Given the description of an element on the screen output the (x, y) to click on. 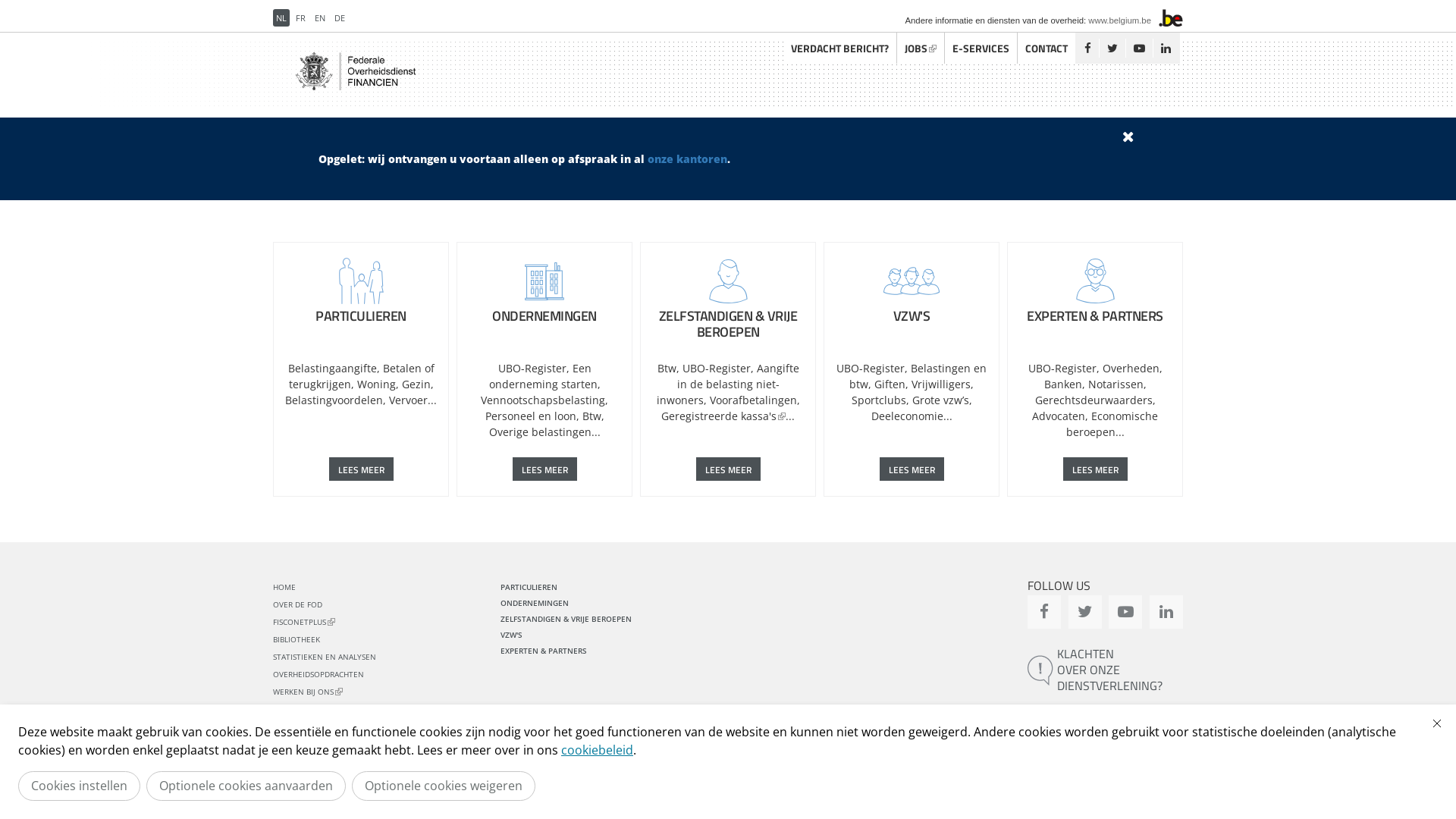
www.belgium.be Element type: text (1119, 20)
Btw Element type: text (591, 415)
DISCLAIMER Element type: text (331, 784)
Twitter Element type: text (1111, 47)
LEES MEER Element type: text (1095, 468)
Belastingaangifte Element type: text (332, 367)
CONTACT Element type: text (290, 708)
Vennootschapsbelasting Element type: text (542, 399)
PHISHING Element type: text (712, 784)
ONDERNEMINGEN Element type: text (534, 602)
BIBLIOTHEEK Element type: text (296, 638)
NL Element type: text (281, 17)
EN Element type: text (319, 17)
cookiebeleid Element type: text (597, 749)
PARTICULIEREN Element type: text (528, 586)
JOBS
(EXTERNE LINK) Element type: text (920, 47)
EXPERTEN & PARTNERS Element type: text (543, 650)
KLACHTEN
OVER ONZE DIENSTVERLENING? Element type: text (1105, 669)
UBO-Register Element type: text (531, 367)
Geregistreerde kassa's
(externe link) Element type: text (723, 415)
Vervoer Element type: text (408, 399)
Gerechtsdeurwaarders Element type: text (1092, 399)
ZELFSTANDIGEN & VRIJE BEROEPEN Element type: text (565, 618)
Banken Element type: text (1062, 383)
LINKEDIN Element type: text (1166, 611)
Belastingen en btw Element type: text (917, 375)
STATISTIEKEN EN ANALYSEN Element type: text (324, 656)
Voorafbetalingen Element type: text (753, 399)
Economische beroepen Element type: text (1112, 423)
Optionele cookies aanvaarden Element type: text (245, 785)
Cookies instellen Element type: text (79, 785)
EEN DATALEK
MELDEN Element type: text (1105, 722)
Een onderneming starten Element type: text (542, 375)
Woning Element type: text (375, 383)
VERDACHT BERICHT? Element type: text (839, 47)
PRIVACY Element type: text (384, 784)
Advocaten Element type: text (1058, 415)
TWITTER Element type: text (1084, 611)
FISCONETPLUS
(EXTERNE LINK) Element type: text (304, 621)
Linkedin Element type: text (1165, 47)
Btw Element type: text (665, 367)
LEES MEER Element type: text (361, 468)
E-SERVICES Element type: text (980, 47)
ONDERNEMINGEN Element type: text (544, 290)
ZELFSTANDIGEN & VRIJE BEROEPEN Element type: text (727, 298)
OVERHEIDSOPDRACHTEN Element type: text (318, 673)
Overheden Element type: text (1130, 367)
FACEBOOK Element type: text (1043, 611)
Giften Element type: text (889, 383)
UBO-Register Element type: text (716, 367)
LEES MEER Element type: text (911, 468)
UBO-Register Element type: text (1062, 367)
Overige belastingen Element type: text (539, 431)
Gezin Element type: text (415, 383)
SITEMAP Element type: text (567, 784)
WERKEN BIJ ONS
(EXTERNE LINK) Element type: text (307, 691)
PERS Element type: text (669, 784)
onze kantoren Element type: text (687, 158)
FR Element type: text (300, 17)
Optionele cookies weigeren Element type: text (443, 785)
YOUTUBE Element type: text (1125, 611)
TOEGANKELIJKHEIDSVERKLARING Element type: text (475, 784)
UBO-Register Element type: text (870, 367)
Personeel en loon Element type: text (530, 415)
DE Element type: text (339, 17)
Aangifte in de belasting niet-inwoners Element type: text (727, 383)
LEES MEER Element type: text (544, 468)
Notarissen Element type: text (1114, 383)
Betalen of terugkrijgen Element type: text (360, 375)
Sportclubs Element type: text (877, 399)
Belastingvoordelen Element type: text (333, 399)
Sluiten Element type: hover (1436, 723)
Facebook Element type: text (1087, 47)
Vrijwilligers Element type: text (940, 383)
HOME Element type: text (284, 586)
Overslaan en naar de inhoud gaan Element type: text (88, 0)
PARTICULIEREN Element type: text (360, 290)
EXPERTEN & PARTNERS Element type: text (1094, 290)
WEBMASTER Element type: text (621, 784)
CONTACT Element type: text (1046, 47)
Youtube Element type: text (1138, 47)
VZW'S Element type: text (511, 634)
OVER DE FOD Element type: text (297, 604)
LEES MEER Element type: text (728, 468)
Deeleconomie Element type: text (906, 415)
VZW'S Element type: text (911, 290)
